Given the description of an element on the screen output the (x, y) to click on. 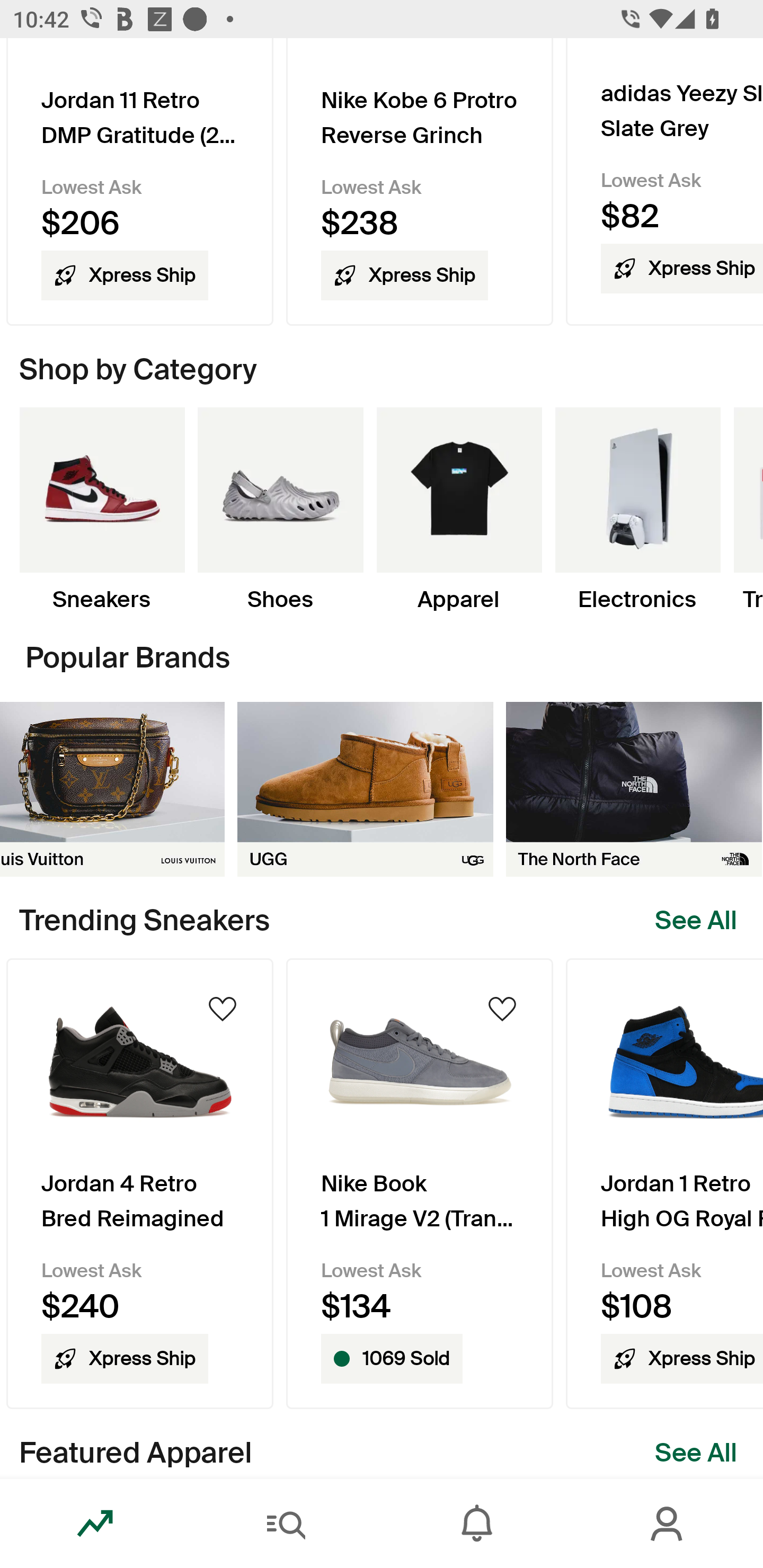
Product Image Sneakers (101, 510)
Product Image Shoes (280, 510)
Product Image Apparel (458, 510)
Product Image Electronics (637, 510)
lv.jpg (112, 789)
ugg.jpg (365, 789)
thenorthface.jpg (633, 789)
See All (695, 920)
See All (695, 1452)
Search (285, 1523)
Inbox (476, 1523)
Account (667, 1523)
